Given the description of an element on the screen output the (x, y) to click on. 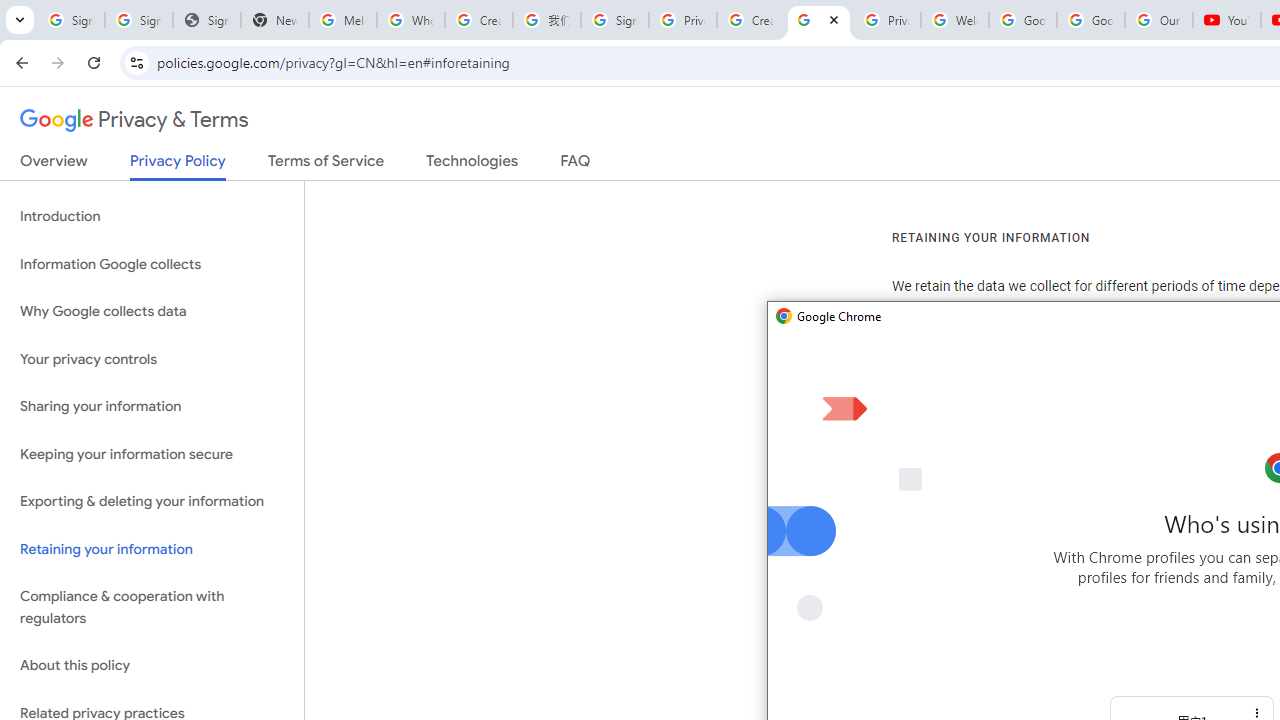
Sign in - Google Accounts (614, 20)
Welcome to My Activity (954, 20)
Create your Google Account (750, 20)
New Tab (274, 20)
